Given the description of an element on the screen output the (x, y) to click on. 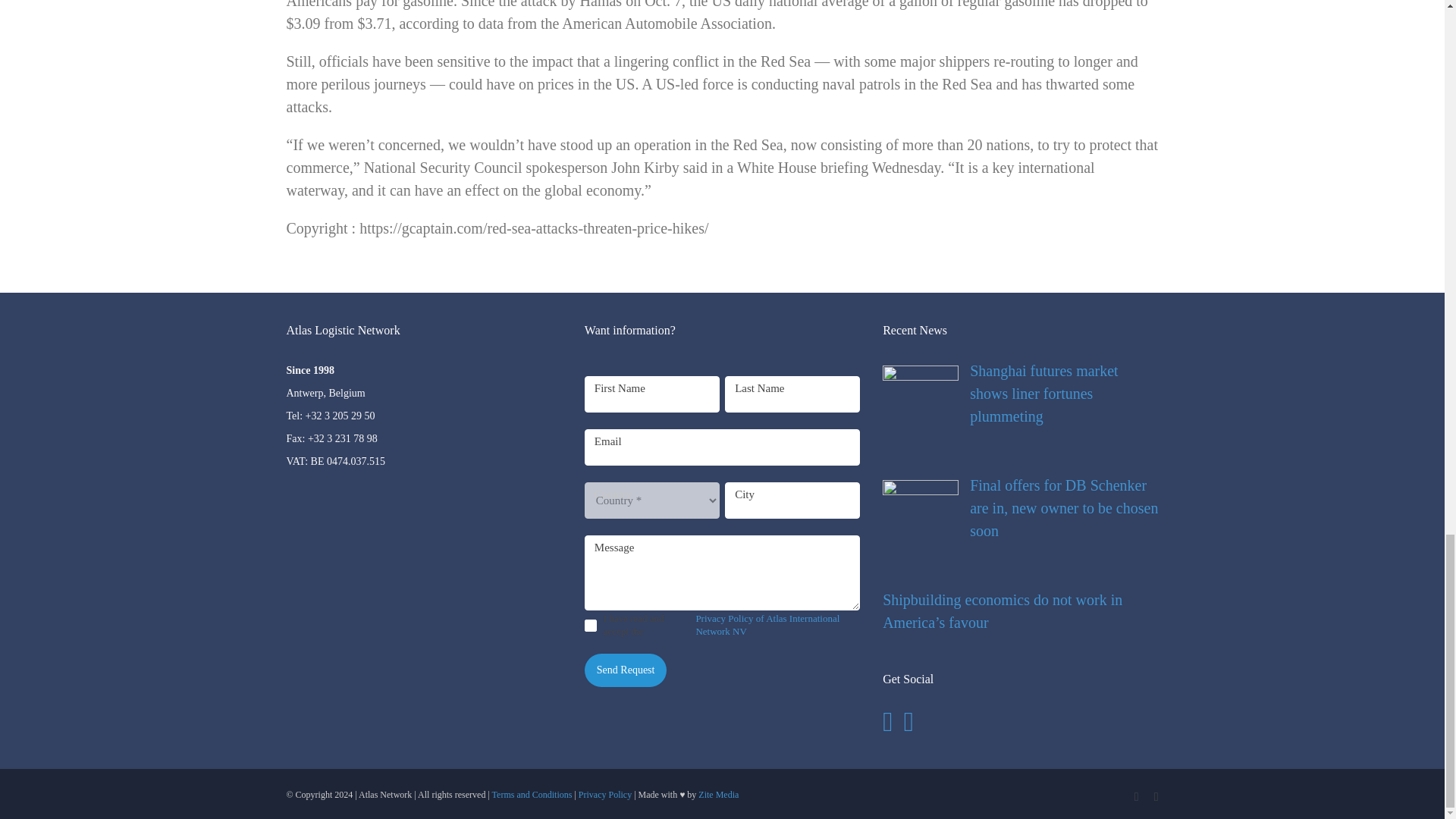
Terms and Conditions (532, 794)
Zite Media (718, 794)
Shanghai futures market shows liner fortunes plummeting (1019, 393)
Send Request (625, 670)
Privacy Policy (604, 794)
Privacy Policy of Atlas International Network NV (777, 625)
